Given the description of an element on the screen output the (x, y) to click on. 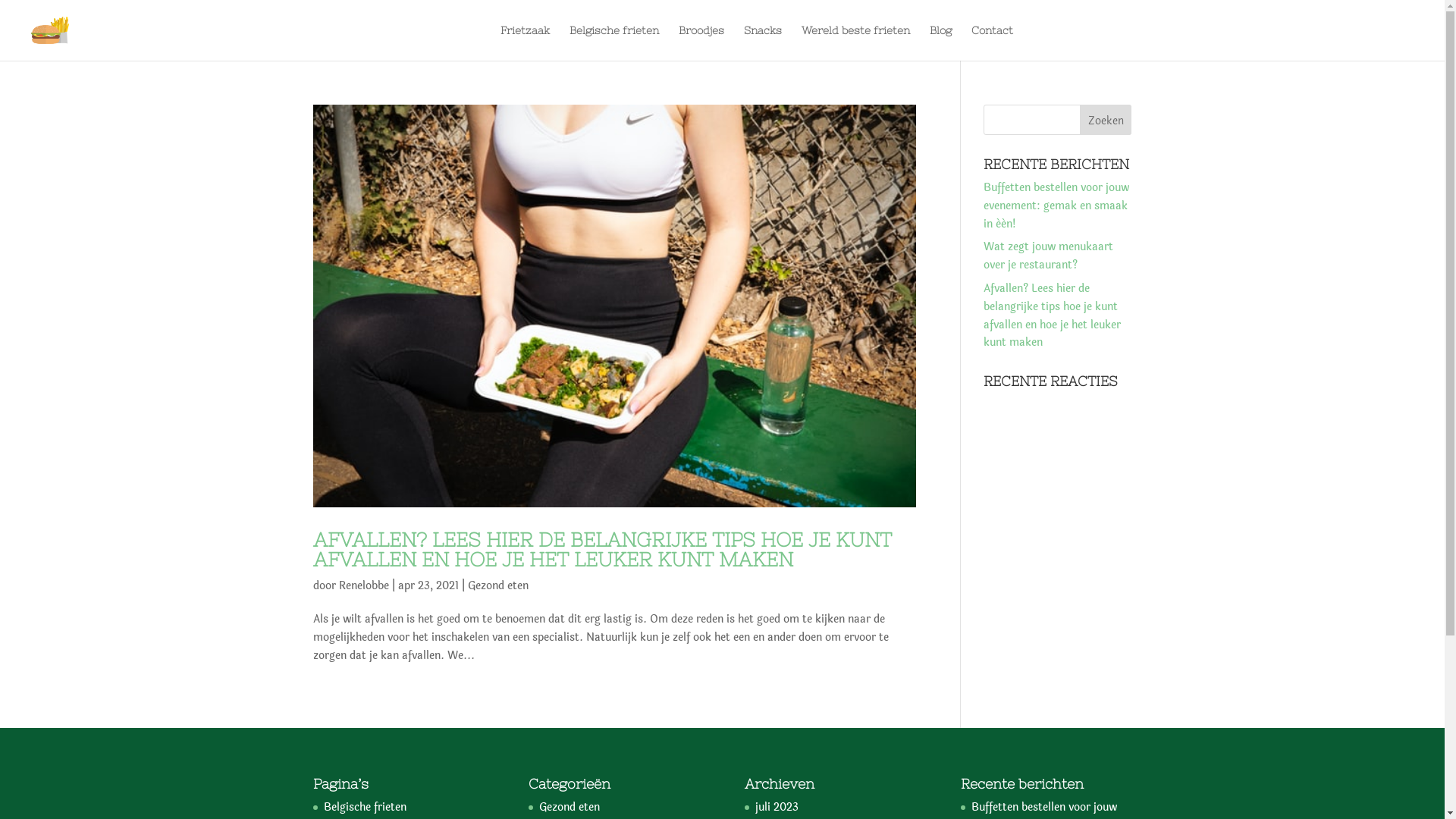
Renelobbe Element type: text (363, 585)
Zoeken Element type: text (1105, 119)
Frietzaak Element type: text (524, 42)
Snacks Element type: text (762, 42)
Belgische frieten Element type: text (364, 807)
Gezond eten Element type: text (497, 585)
Belgische frieten Element type: text (613, 42)
Blog Element type: text (940, 42)
juli 2023 Element type: text (776, 807)
Gezond eten Element type: text (569, 807)
Broodjes Element type: text (701, 42)
Wereld beste frieten Element type: text (855, 42)
Wat zegt jouw menukaart over je restaurant? Element type: text (1048, 255)
Contact Element type: text (992, 42)
